Given the description of an element on the screen output the (x, y) to click on. 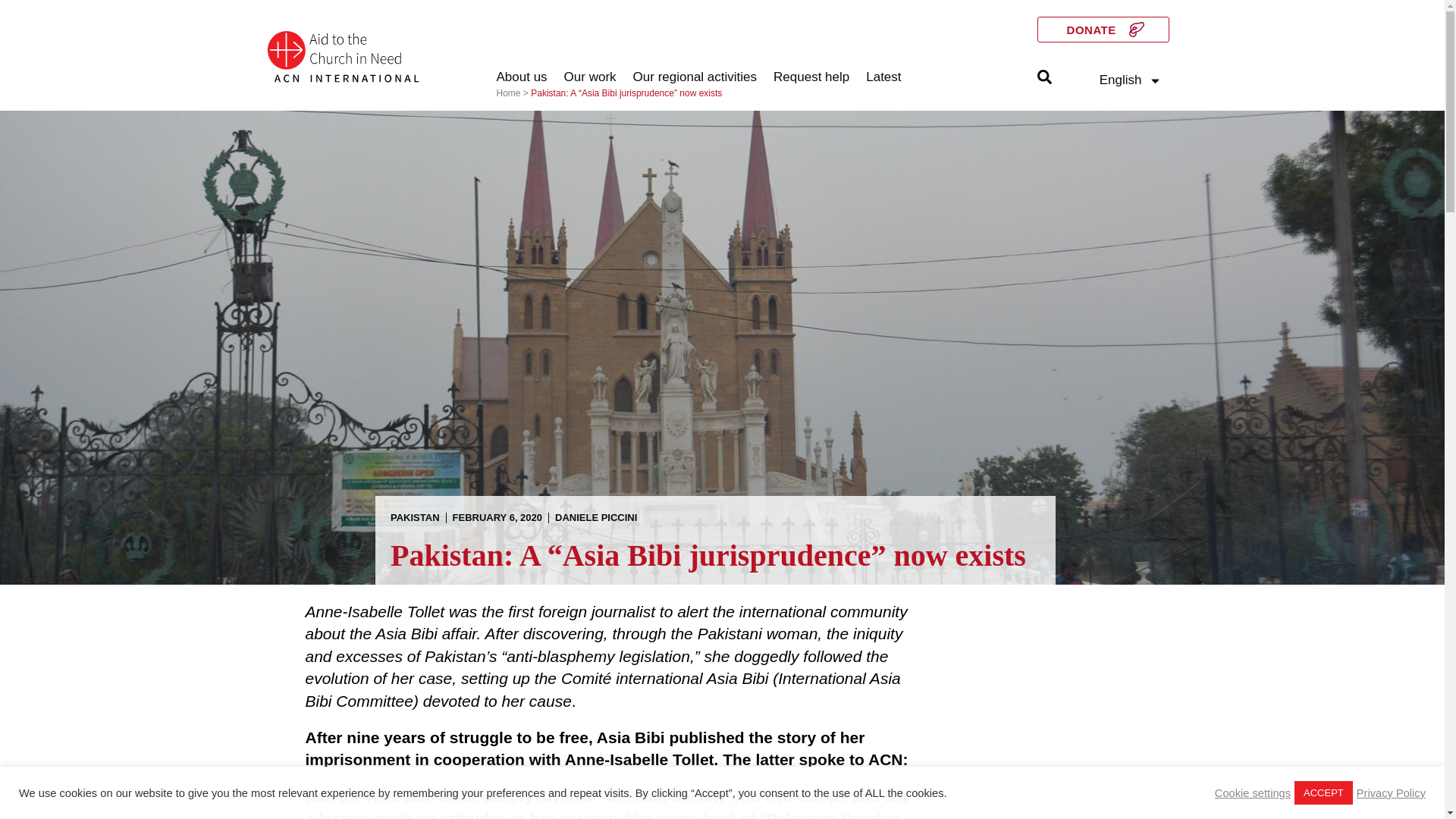
Latest (883, 77)
About us (521, 77)
Go to ACN International. (507, 92)
Our regional activities (695, 77)
Our work (589, 77)
English (1131, 80)
Request help (810, 77)
